Given the description of an element on the screen output the (x, y) to click on. 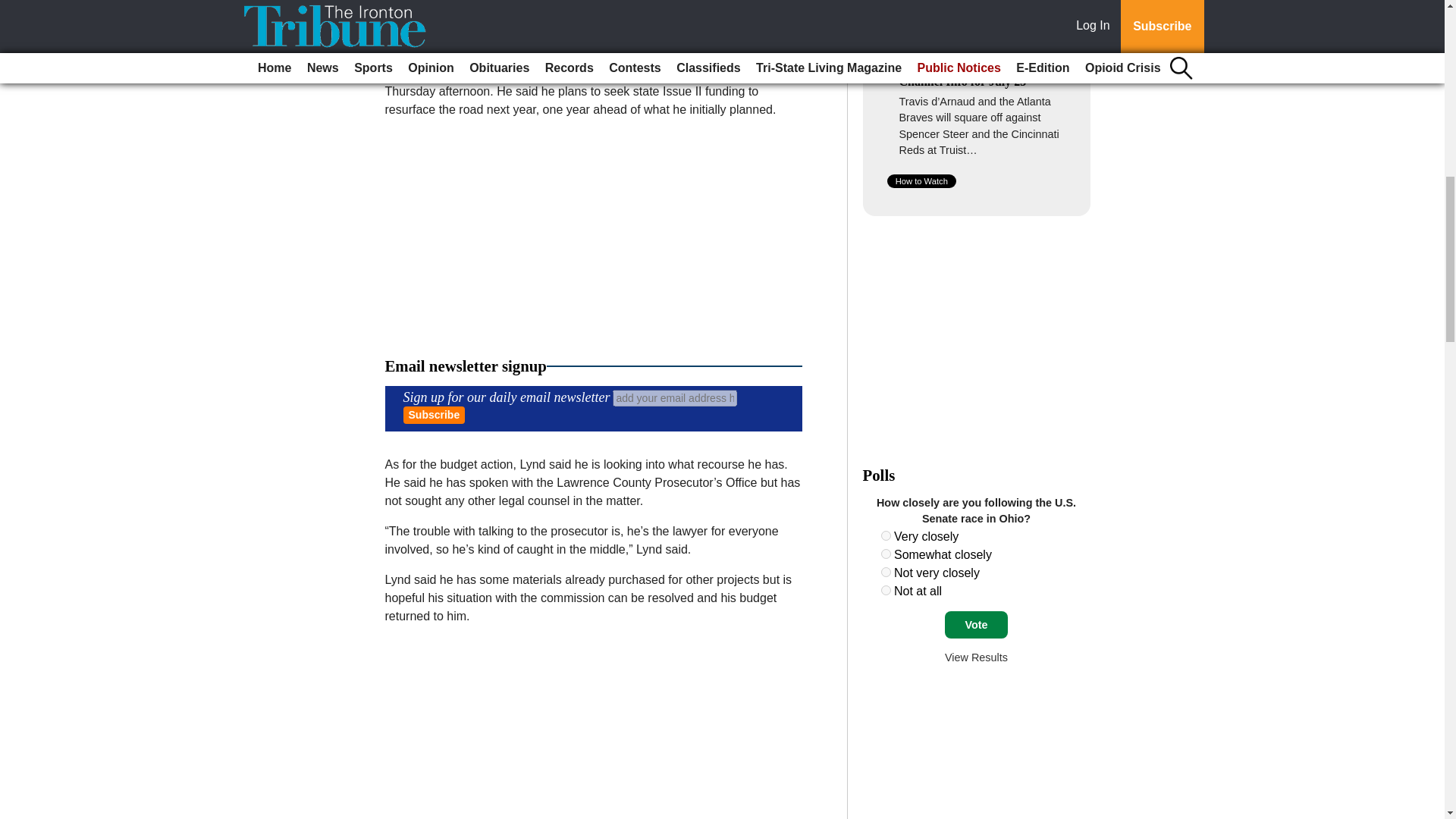
View Results (975, 657)
   Vote    (975, 624)
1435 (885, 590)
Subscribe (434, 415)
1433 (885, 553)
View Results Of This Poll (975, 657)
1434 (885, 572)
Subscribe (434, 415)
How to Watch (921, 181)
1432 (885, 535)
